Given the description of an element on the screen output the (x, y) to click on. 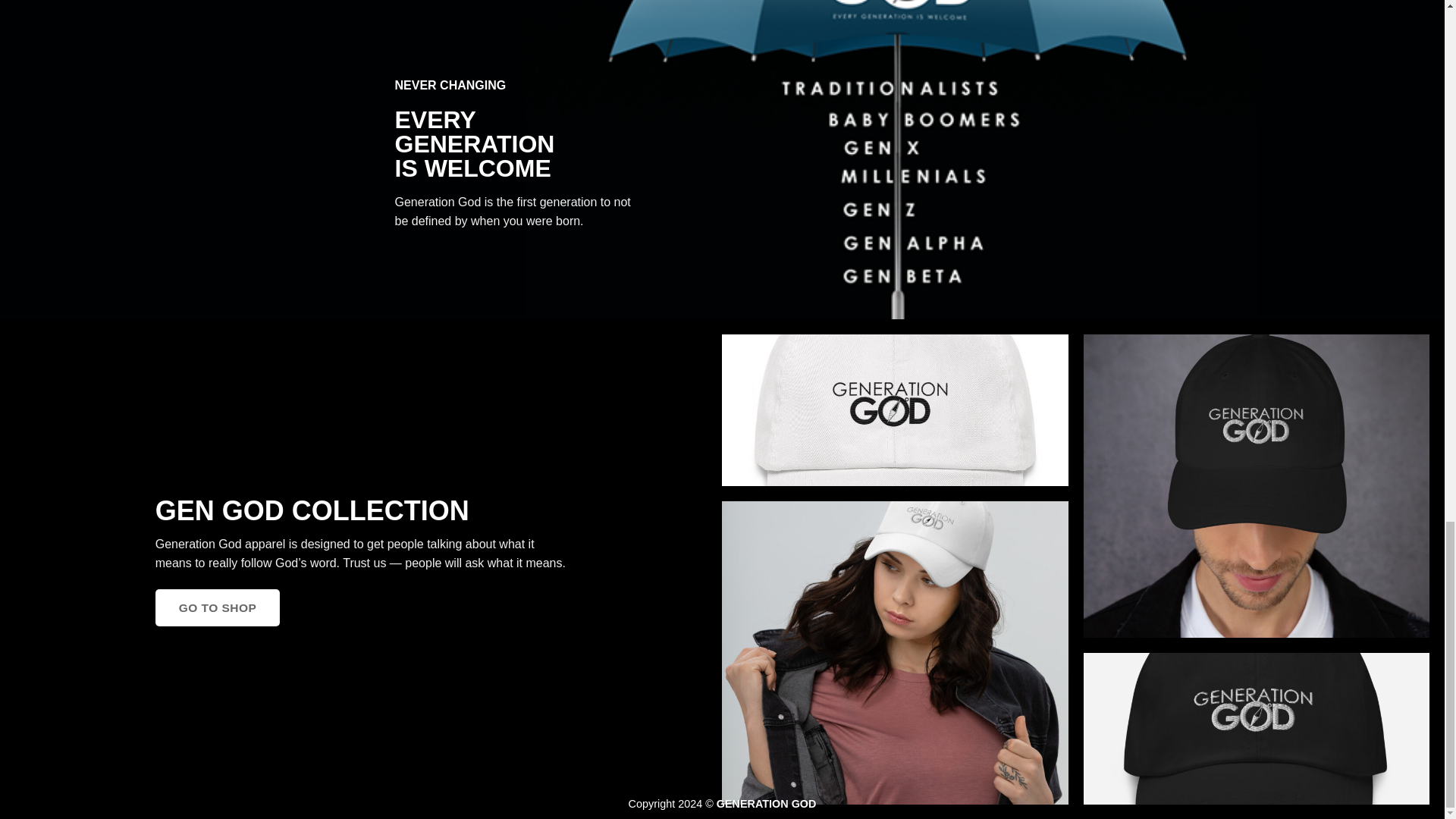
GO TO SHOP (218, 607)
